Given the description of an element on the screen output the (x, y) to click on. 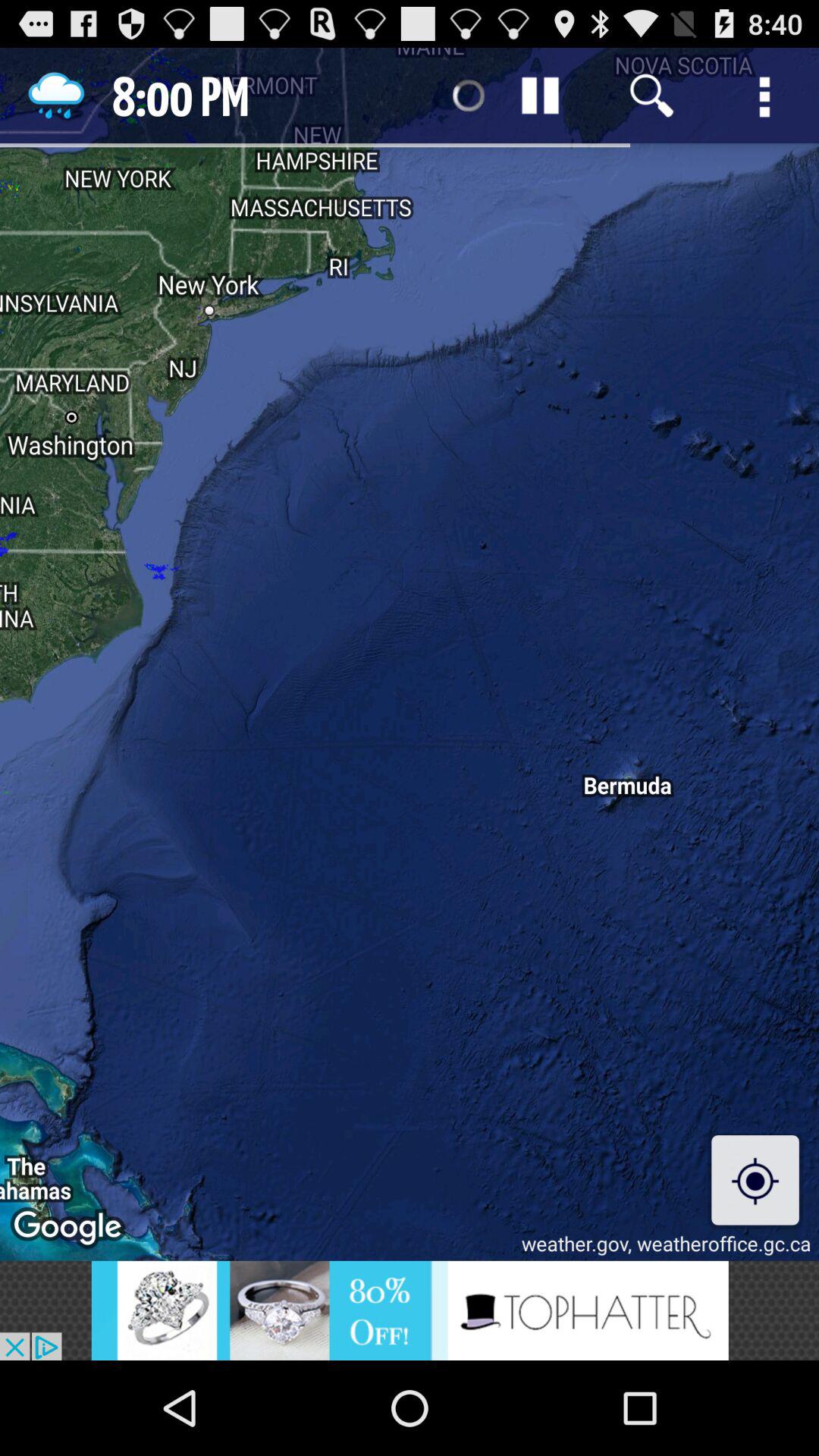
adverts (409, 1310)
